Given the description of an element on the screen output the (x, y) to click on. 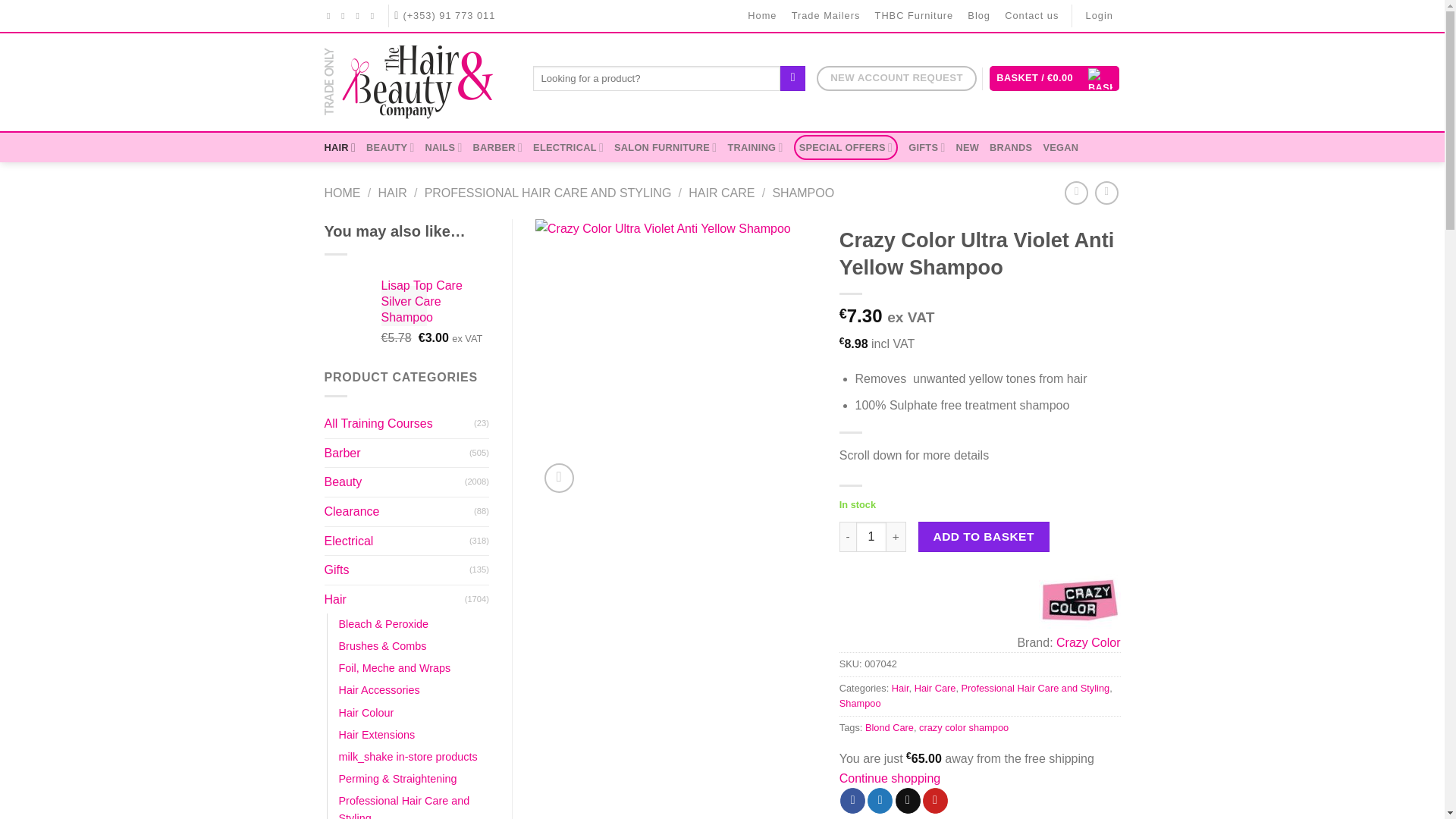
Search (792, 78)
Login (1099, 15)
Login (1099, 15)
HAIR (340, 147)
THBC Furniture (913, 15)
Zoom (558, 478)
Fill the form to get a trade access (895, 78)
1 (871, 536)
Basket (1054, 78)
Contact us (1031, 15)
Home (762, 15)
Scroll down for more details (914, 454)
Trade Mailers (825, 15)
NEW ACCOUNT REQUEST (895, 78)
Lisap Top Care Silver Care Shampoo (434, 301)
